Given the description of an element on the screen output the (x, y) to click on. 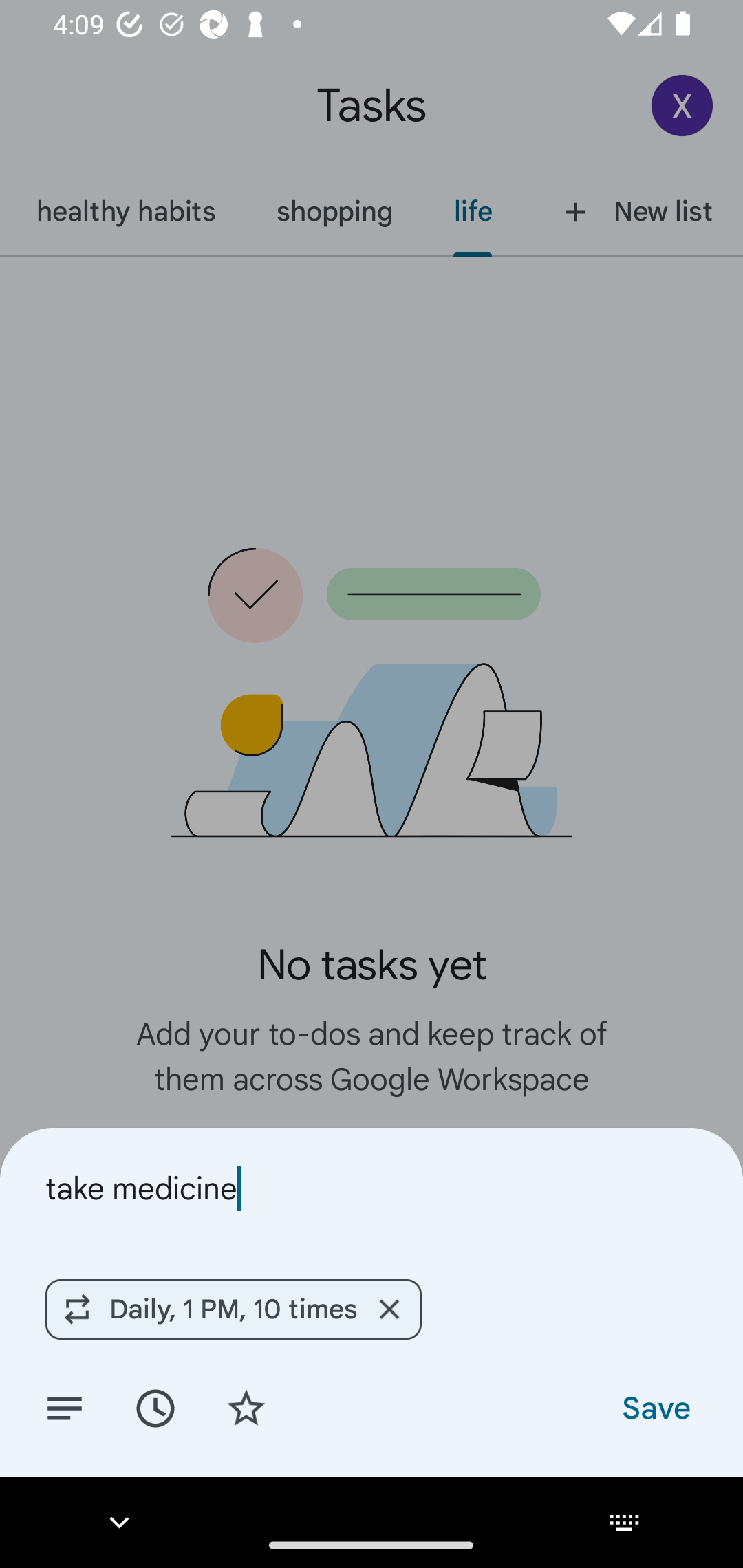
take medicine (371, 1188)
Daily, 1 PM, 10 times Remove Daily, 1 PM, 10 times (233, 1308)
Save (655, 1407)
Add details (64, 1407)
Set date/time (154, 1407)
Add star (245, 1407)
